Given the description of an element on the screen output the (x, y) to click on. 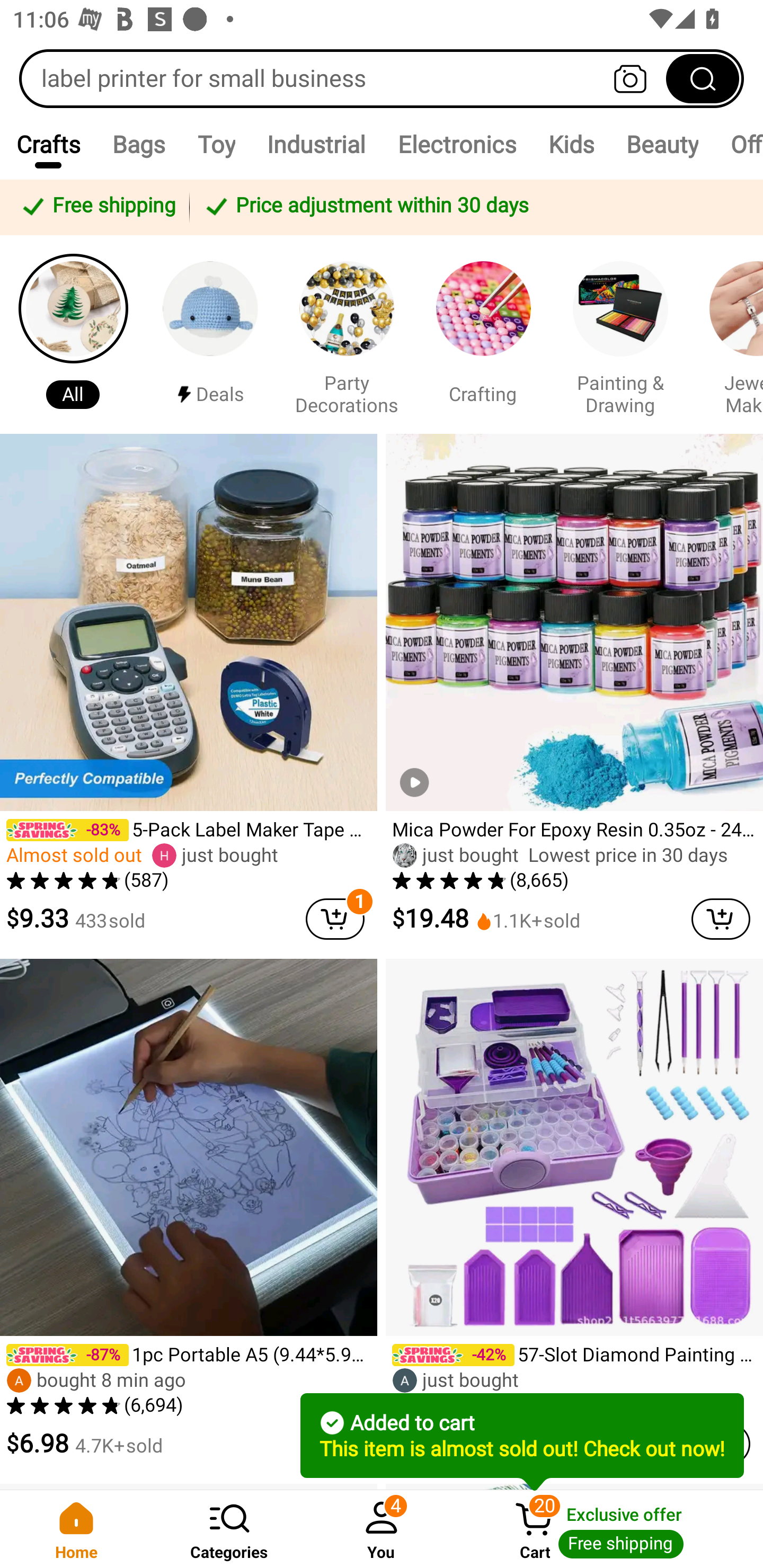
label printer for small business (381, 78)
Crafts (48, 144)
Bags (138, 144)
Toy (216, 144)
Industrial (316, 144)
Electronics (456, 144)
Kids (570, 144)
Beauty (661, 144)
Free shipping (97, 206)
Price adjustment within 30 days (472, 206)
All (72, 333)
￼￼Deals (209, 333)
Party Decorations (346, 333)
Crafting (482, 333)
Painting & Drawing (619, 333)
cart delete (334, 918)
cart delete (720, 918)
Home (76, 1528)
Categories (228, 1528)
You 4 You (381, 1528)
Cart 20 Cart Exclusive offer (610, 1528)
